Given the description of an element on the screen output the (x, y) to click on. 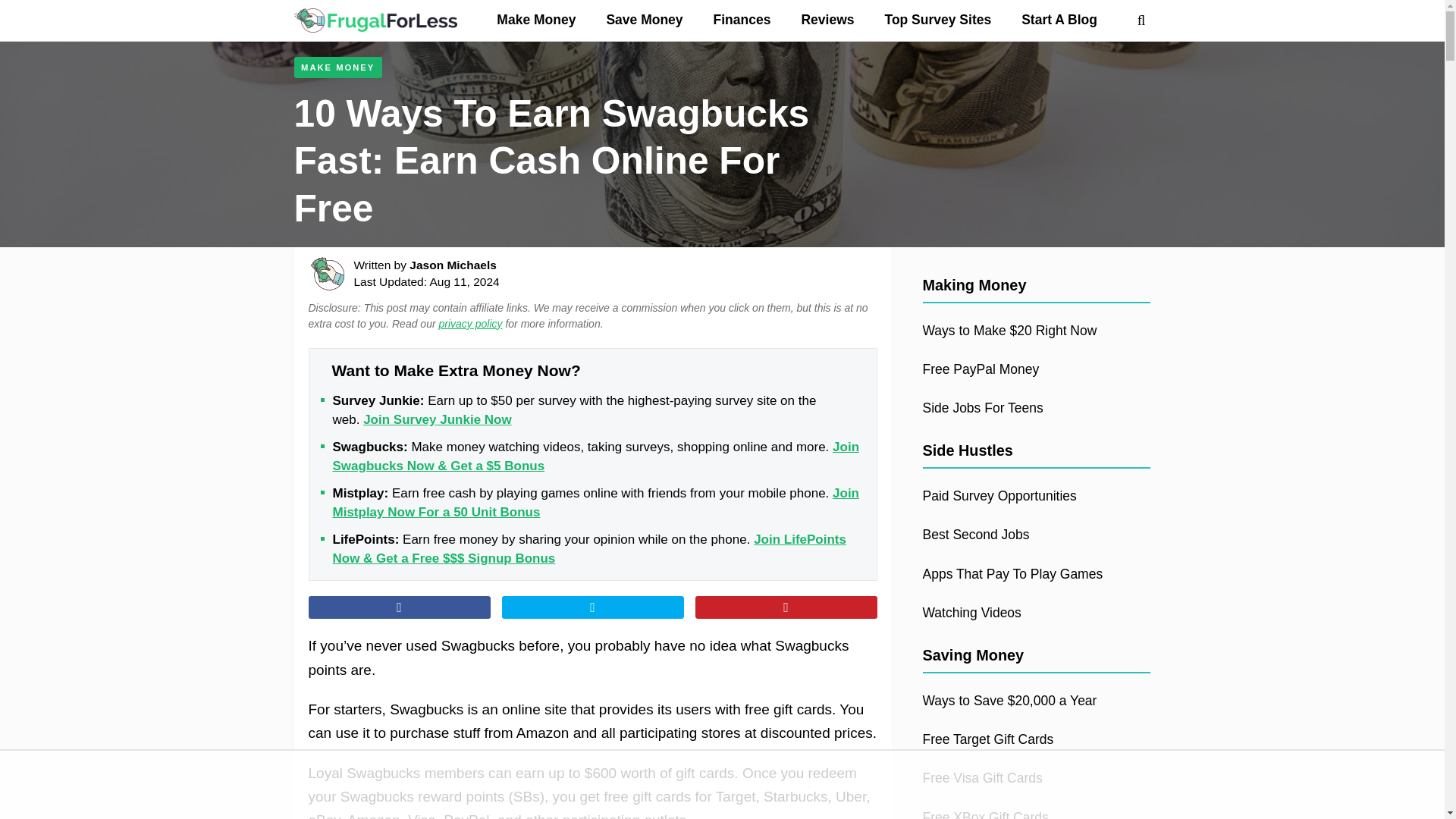
Join Mistplay Now For a 50 Unit Bonus (595, 503)
Make Money (536, 20)
Top Survey Sites (937, 20)
Start A Blog (1059, 20)
Reviews (827, 20)
privacy policy (470, 323)
Finances (742, 20)
Join Survey Junkie Now (437, 419)
Save Money (644, 20)
